Given the description of an element on the screen output the (x, y) to click on. 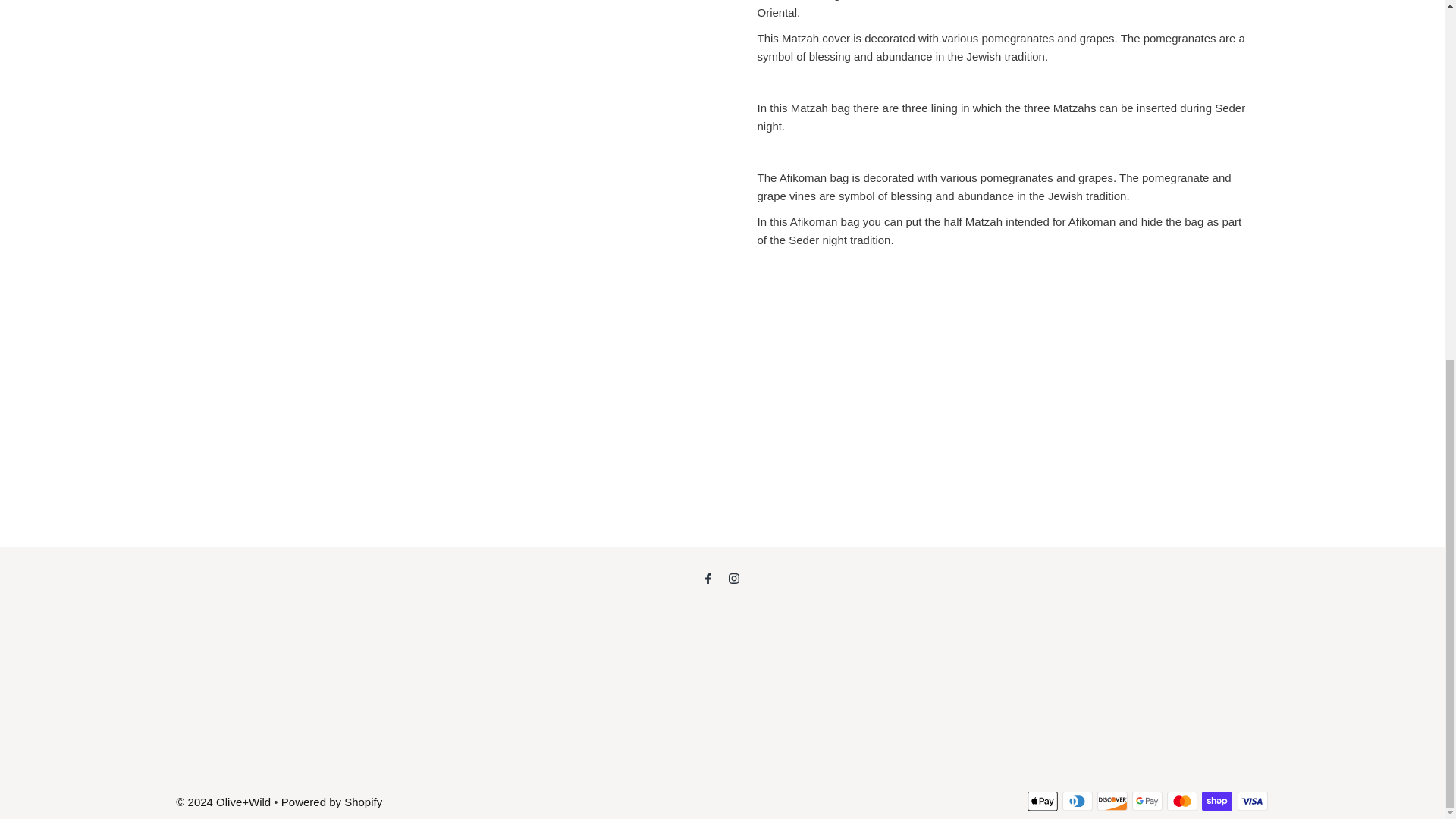
Google Pay (1146, 800)
Apple Pay (1042, 800)
Shop Pay (1216, 800)
Visa (1252, 800)
Diners Club (1077, 800)
Mastercard (1181, 800)
Discover (1111, 800)
